Given the description of an element on the screen output the (x, y) to click on. 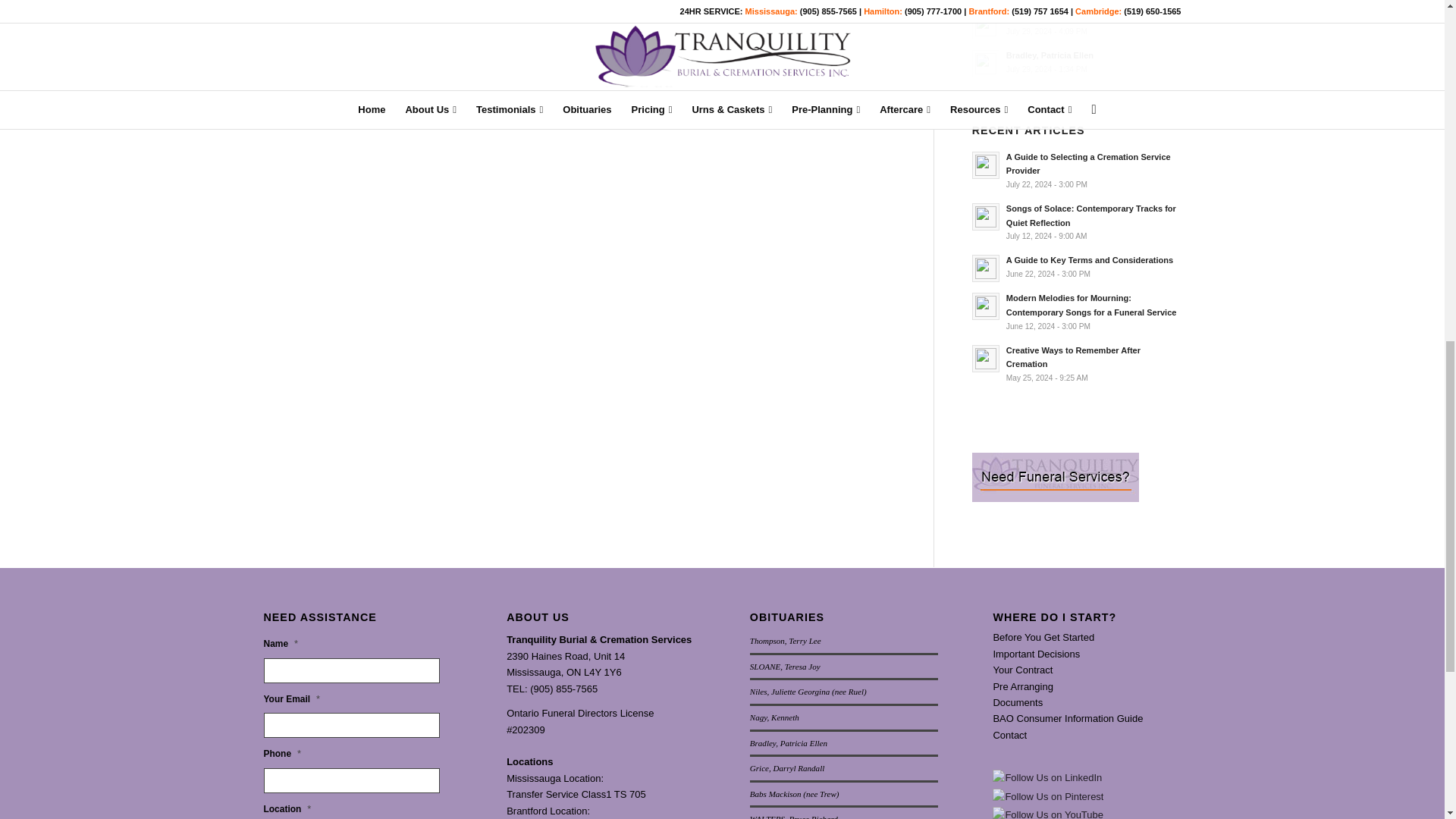
A Guide to Key Terms and Considerations (1076, 266)
Creative Ways to Remember After Cremation (1076, 363)
Songs of Solace: Contemporary Tracks for Quiet Reflection (1076, 221)
Follow Us on LinkedIn (1047, 777)
A Guide to Selecting a Cremation Service Provider (1076, 170)
Bradley, Patricia Ellen (1076, 61)
Nagy, Kenneth (1076, 24)
